Given the description of an element on the screen output the (x, y) to click on. 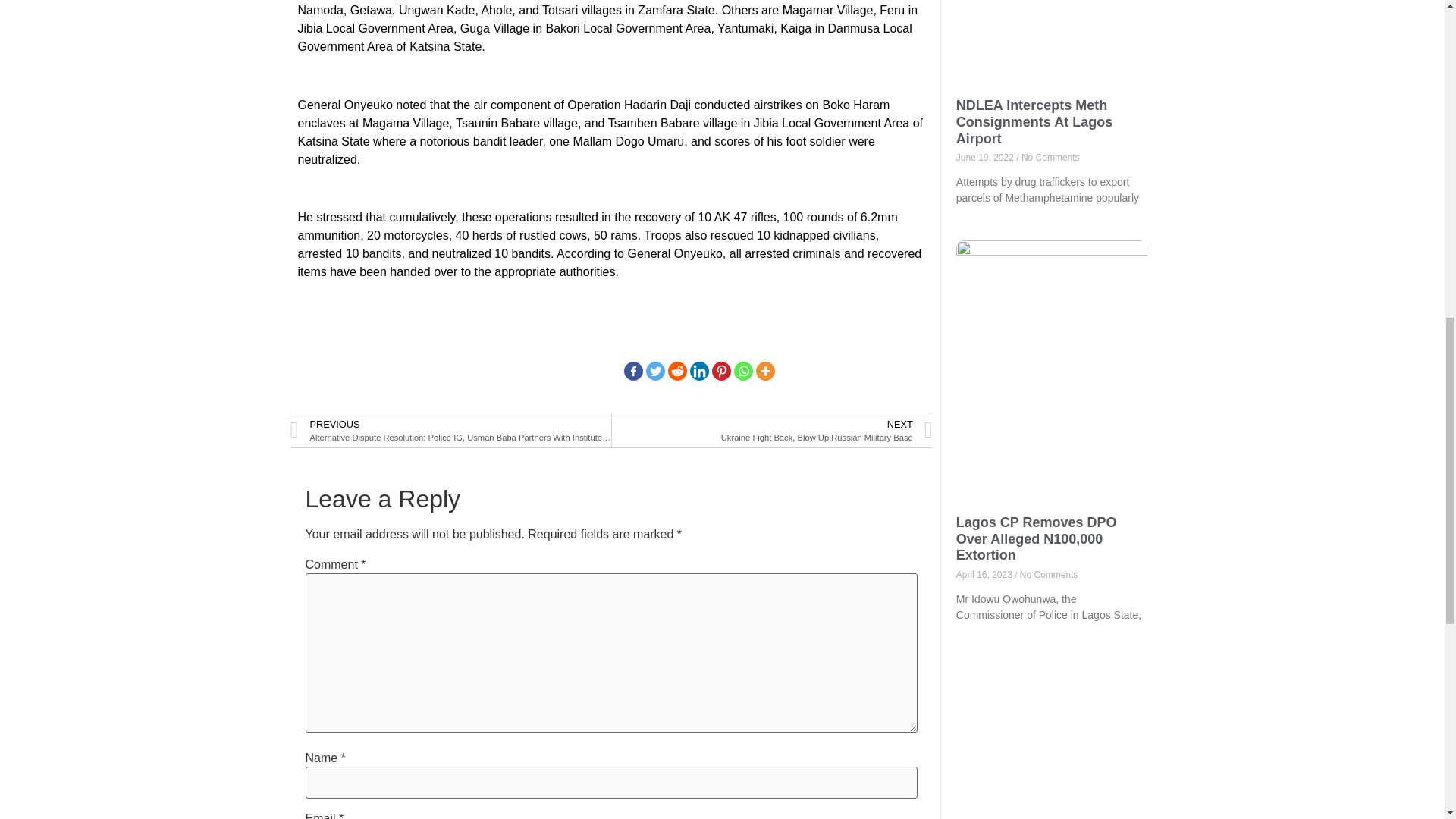
Twitter (655, 370)
Facebook (633, 370)
Reddit (677, 370)
